Given the description of an element on the screen output the (x, y) to click on. 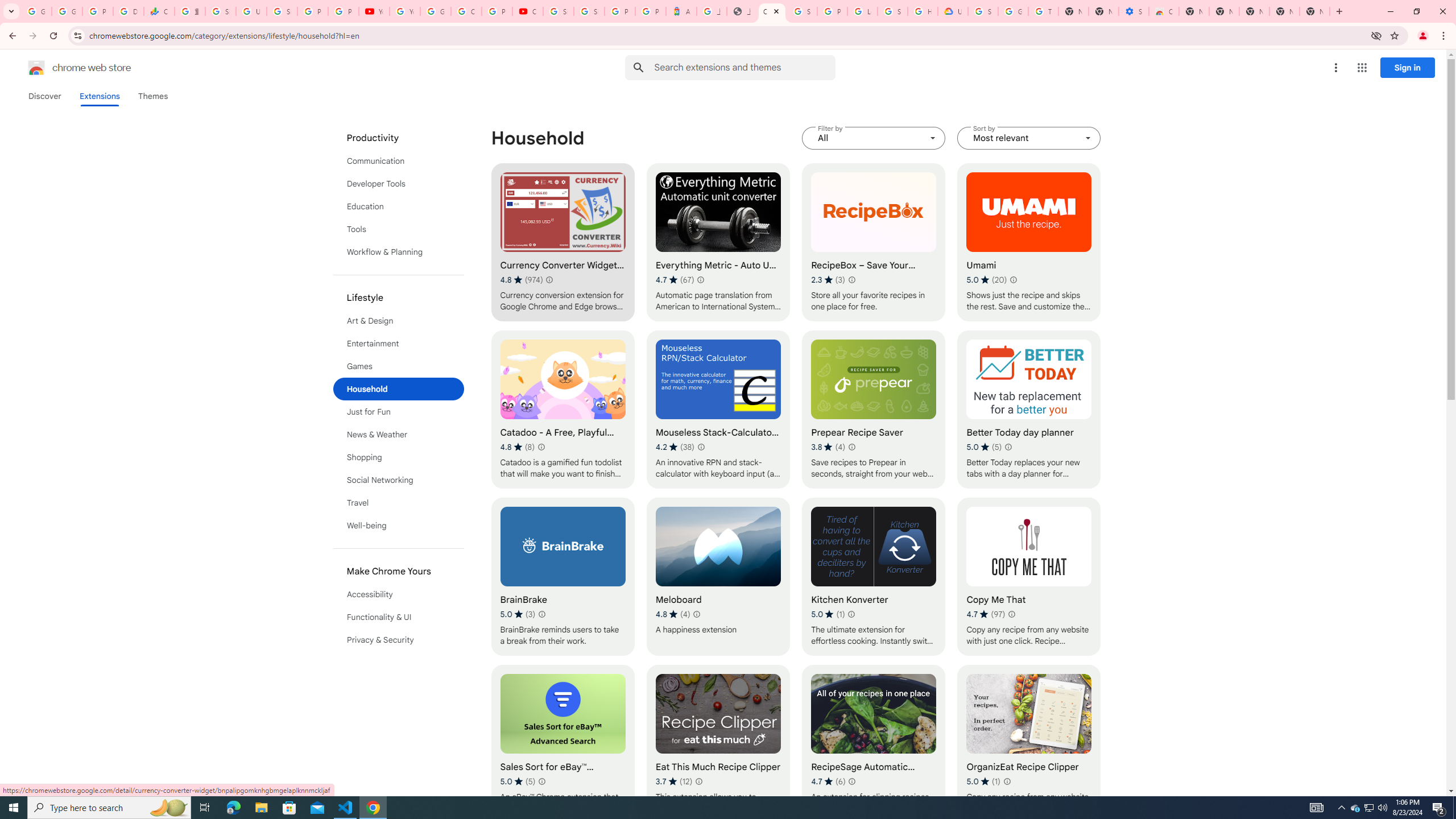
Learn more about results and reviews "Kitchen Konverter" (850, 613)
Sort by Most relevant (1028, 137)
Shopping (398, 456)
Average rating 5 out of 5 stars. 1 rating. (983, 781)
Learn more about results and reviews "BrainBrake" (542, 613)
Chrome Web Store - Accessibility extensions (1163, 11)
Learn more about results and reviews "Prepear Recipe Saver" (850, 446)
